Given the description of an element on the screen output the (x, y) to click on. 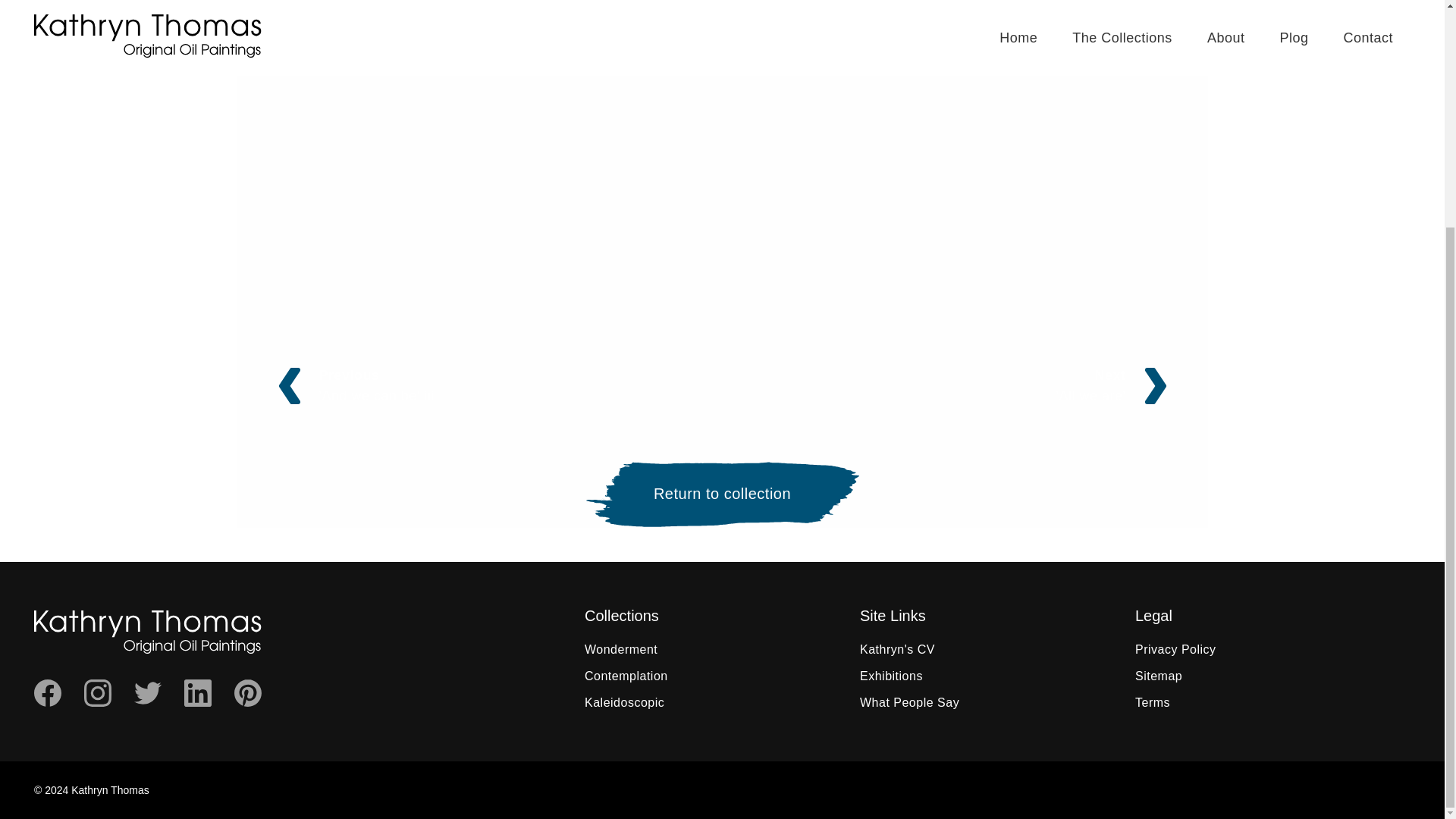
Privacy Policy (1175, 649)
Terms (1152, 702)
Sitemap (496, 385)
Kathryn's CV (947, 385)
Contemplation (1158, 675)
Exhibitions (897, 649)
Kaleidoscopic (626, 675)
What People Say (891, 675)
Return to collection (624, 702)
Wonderment (909, 702)
